Given the description of an element on the screen output the (x, y) to click on. 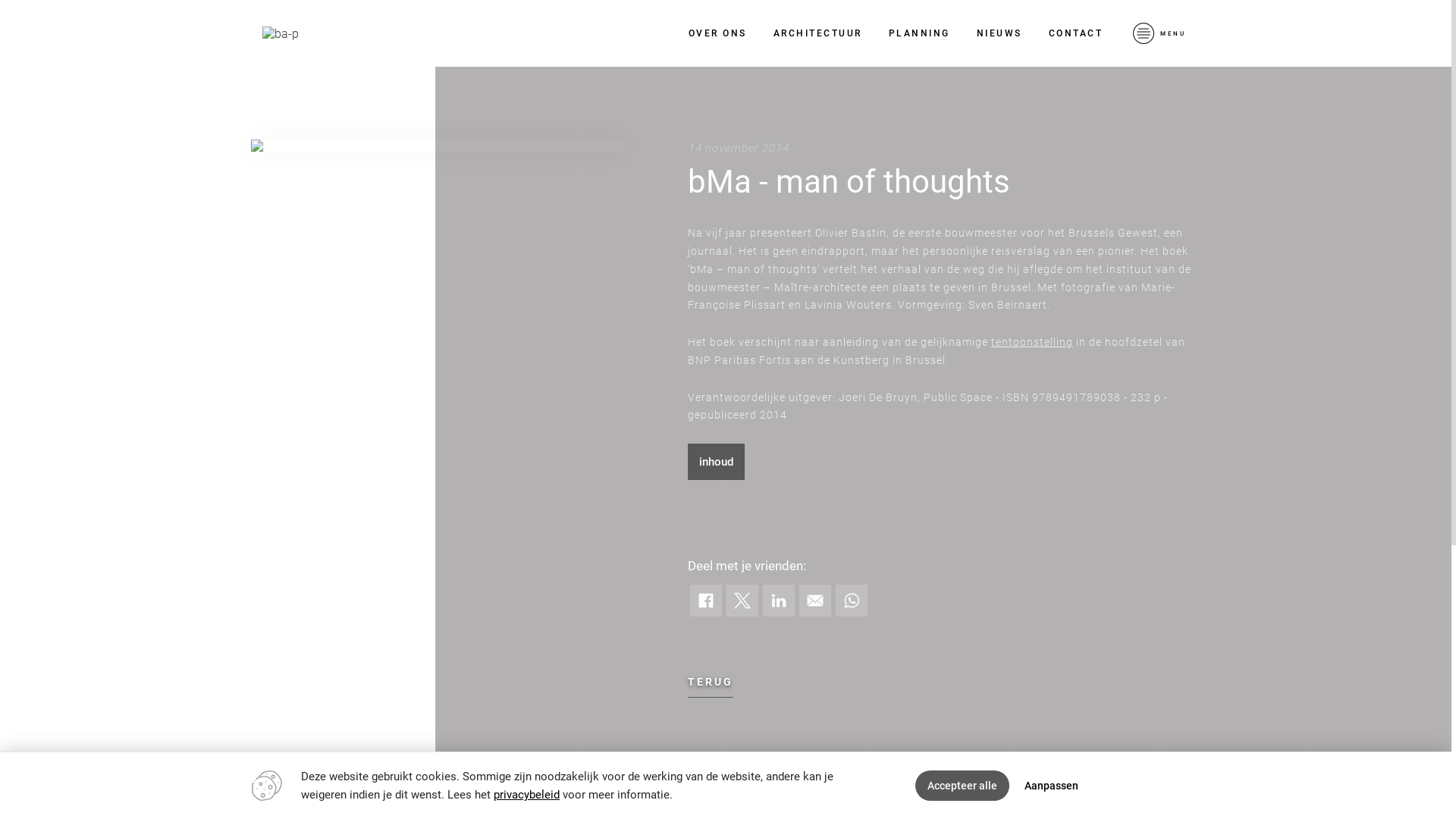
TERUG Element type: text (710, 681)
Accepteer alle Element type: text (962, 785)
NIEUWS Element type: text (999, 33)
Share via linkedin Element type: hover (778, 600)
Share via whatsapp Element type: hover (851, 600)
privacybeleid Element type: text (526, 794)
ARCHITECTUUR Element type: text (817, 33)
ba-p Element type: hover (280, 32)
tentoonstelling Element type: text (1032, 342)
Share via mail Element type: hover (815, 600)
PLANNING Element type: text (919, 33)
MENU Element type: text (1159, 33)
Share via facebook Element type: hover (705, 600)
Share via twitter Element type: hover (742, 600)
Aanpassen Element type: text (1051, 785)
inhoud Element type: text (715, 461)
OVER ONS Element type: text (717, 33)
CONTACT Element type: text (1075, 33)
